Given the description of an element on the screen output the (x, y) to click on. 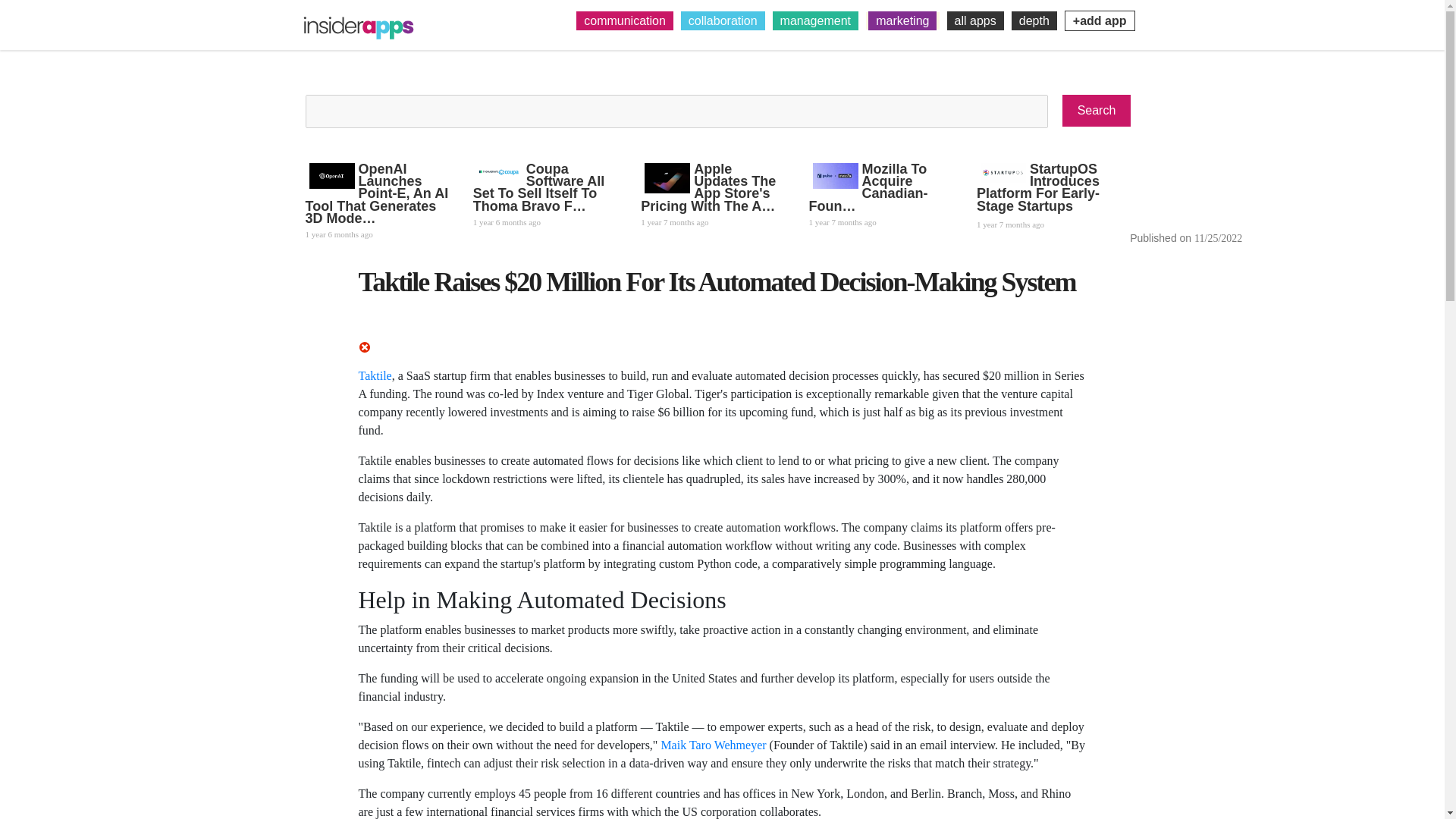
Search (1096, 110)
management (816, 20)
communication (624, 20)
all apps (975, 20)
marketing (901, 20)
1 year 7 months ago (881, 220)
collaboration (723, 20)
1 year 6 months ago (545, 220)
1 year 7 months ago (713, 220)
1 year 6 months ago (376, 232)
depth (1034, 20)
Search (1096, 110)
